Given the description of an element on the screen output the (x, y) to click on. 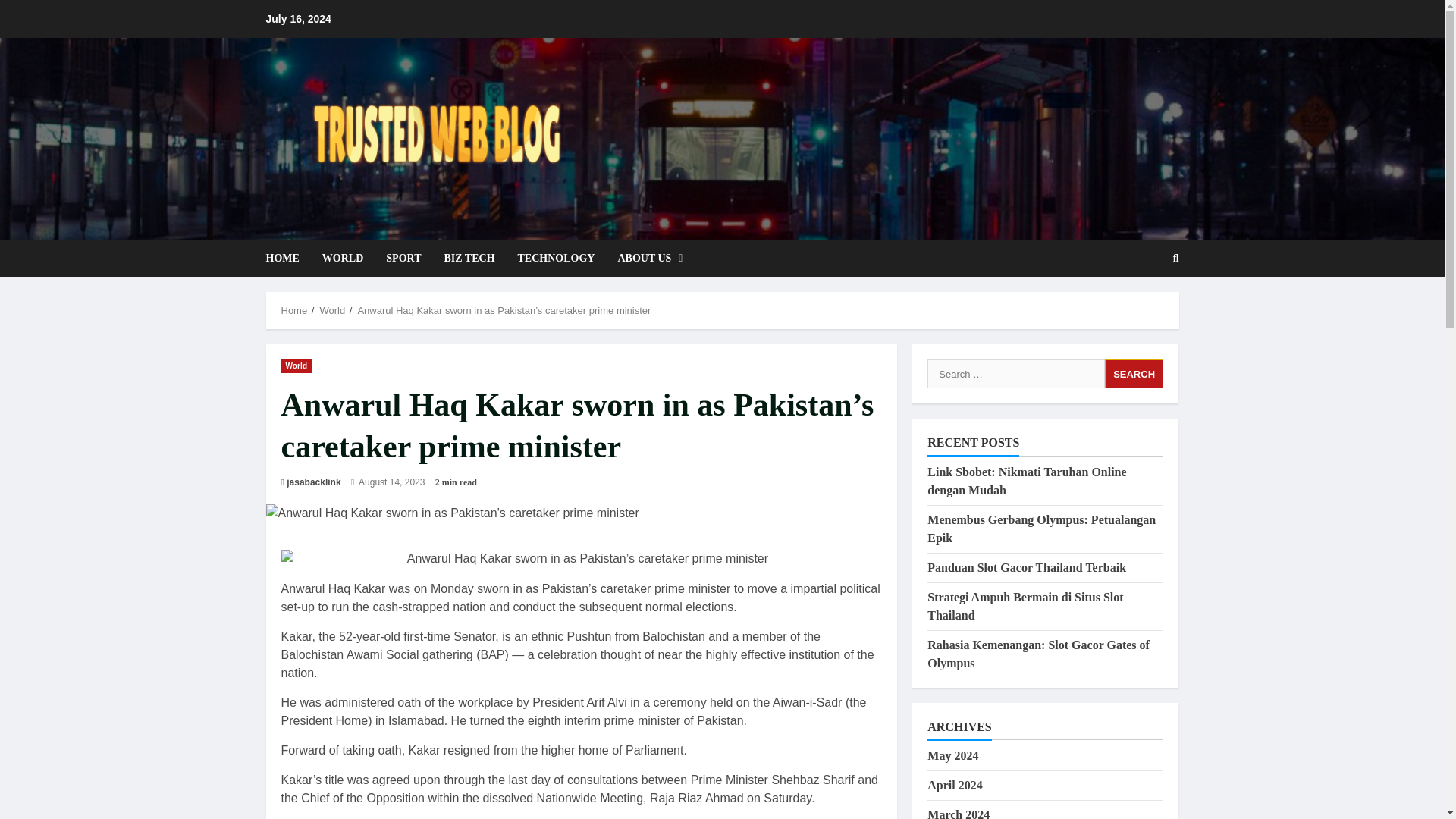
Search (1134, 373)
TECHNOLOGY (556, 257)
WORLD (342, 257)
ABOUT US (643, 257)
HOME (287, 257)
World (296, 366)
jasabacklink (313, 481)
SPORT (403, 257)
Search (1134, 373)
BIZ TECH (468, 257)
Home (294, 310)
World (331, 310)
Search (1139, 309)
